Given the description of an element on the screen output the (x, y) to click on. 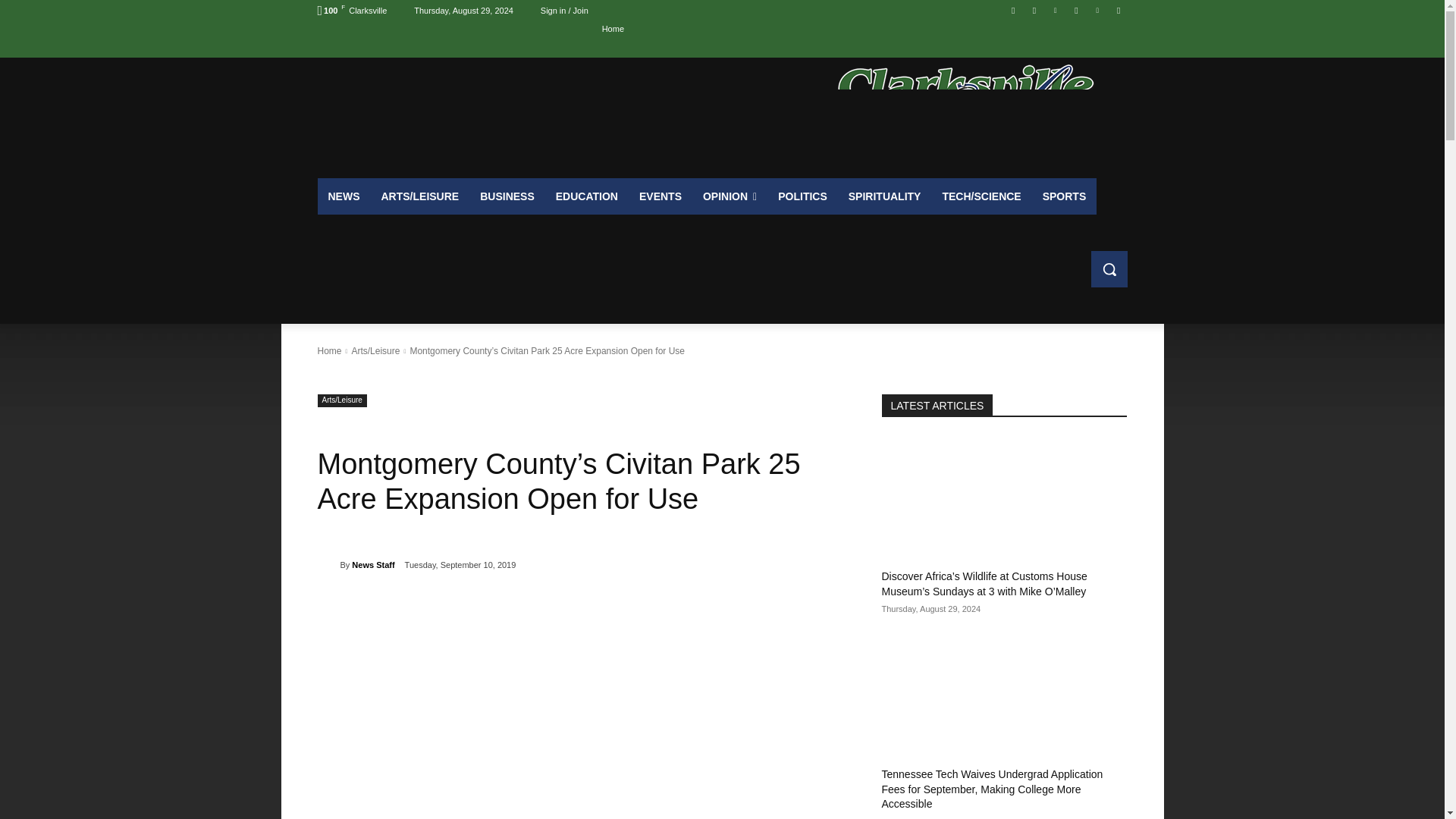
EDUCATION (586, 196)
Twitter (1097, 9)
Facebook (1013, 9)
SPIRITUALITY (884, 196)
Instagram (1034, 9)
POLITICS (802, 196)
Youtube (1117, 9)
News Staff (328, 564)
RSS (1075, 9)
NEWS (343, 196)
